Given the description of an element on the screen output the (x, y) to click on. 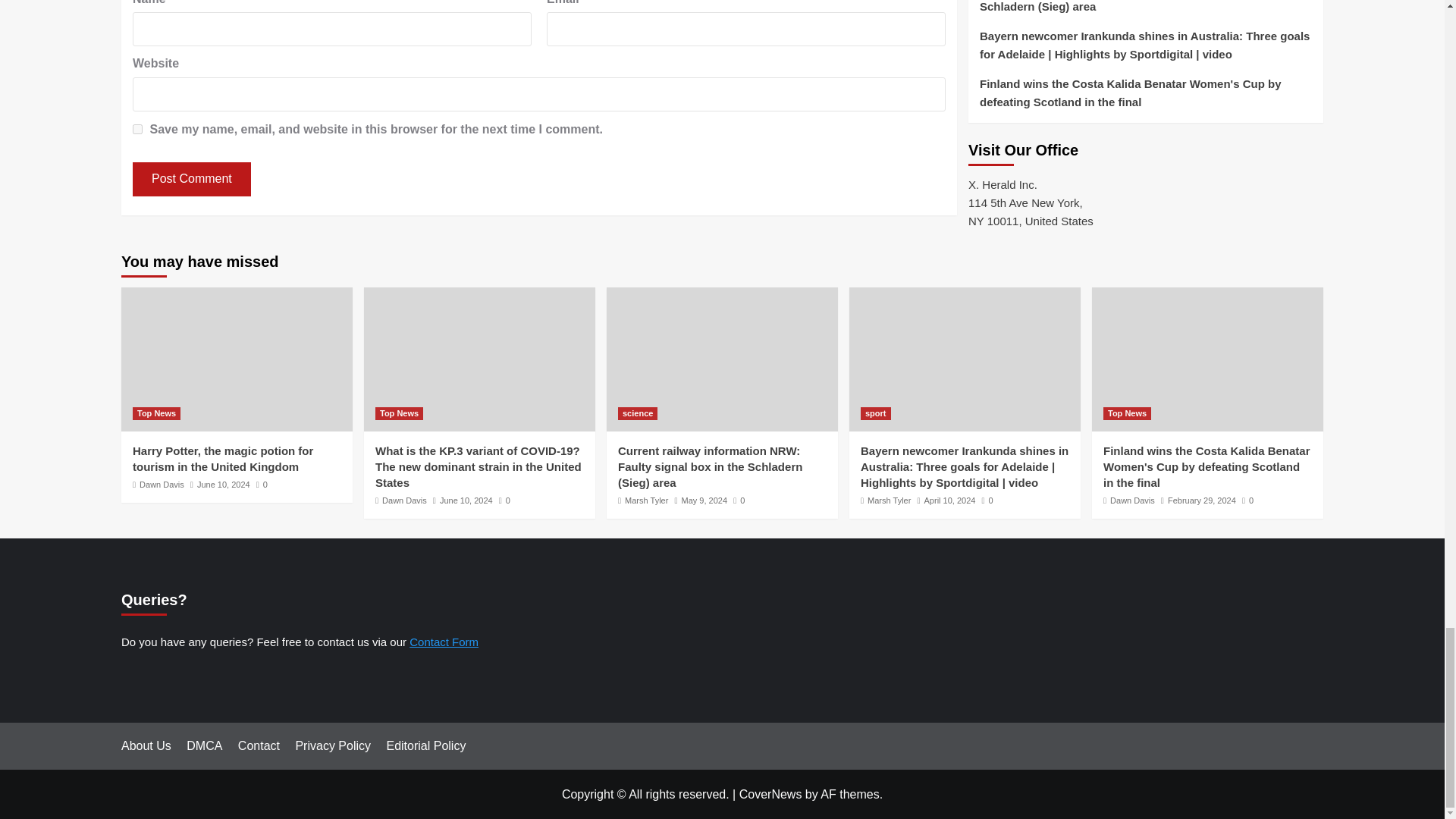
Post Comment (191, 179)
yes (137, 129)
